Given the description of an element on the screen output the (x, y) to click on. 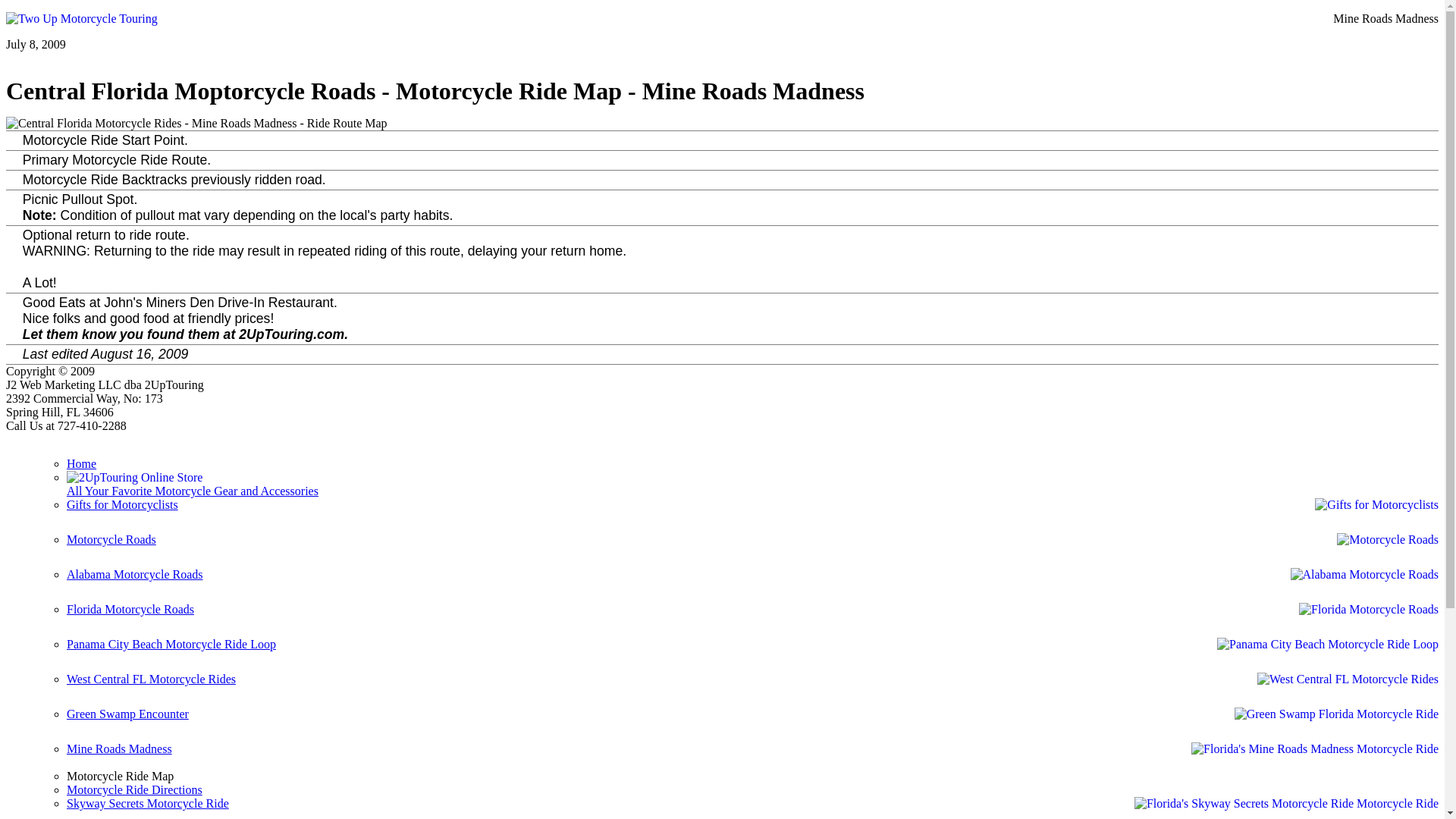
West Central FL Motorcycle Rides Element type: text (752, 689)
Green Swamp Encounter Element type: text (752, 724)
Mine Roads Madness Element type: text (752, 755)
Florida Motorcycle Roads Element type: text (752, 619)
Motorcycle Roads Element type: text (752, 550)
Gifts for Motorcyclists Element type: text (752, 515)
Home Element type: text (81, 463)
Alabama Motorcycle Roads Element type: text (752, 584)
Panama City Beach Motorcycle Ride Loop Element type: text (752, 654)
Motorcycle Ride Directions Element type: text (134, 789)
All Your Favorite Motorcycle Gear and Accessories Element type: text (192, 497)
